Given the description of an element on the screen output the (x, y) to click on. 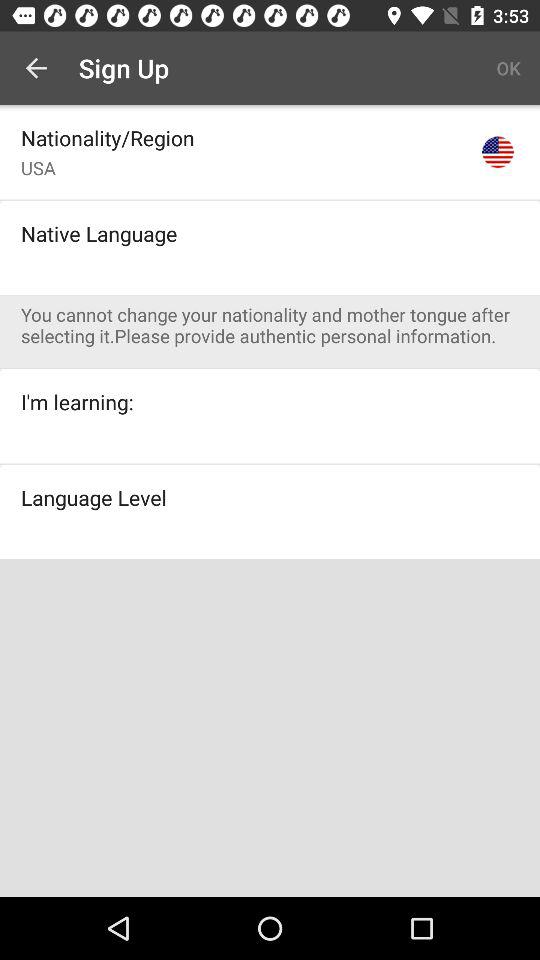
turn off the icon above the nationality/region (36, 68)
